Given the description of an element on the screen output the (x, y) to click on. 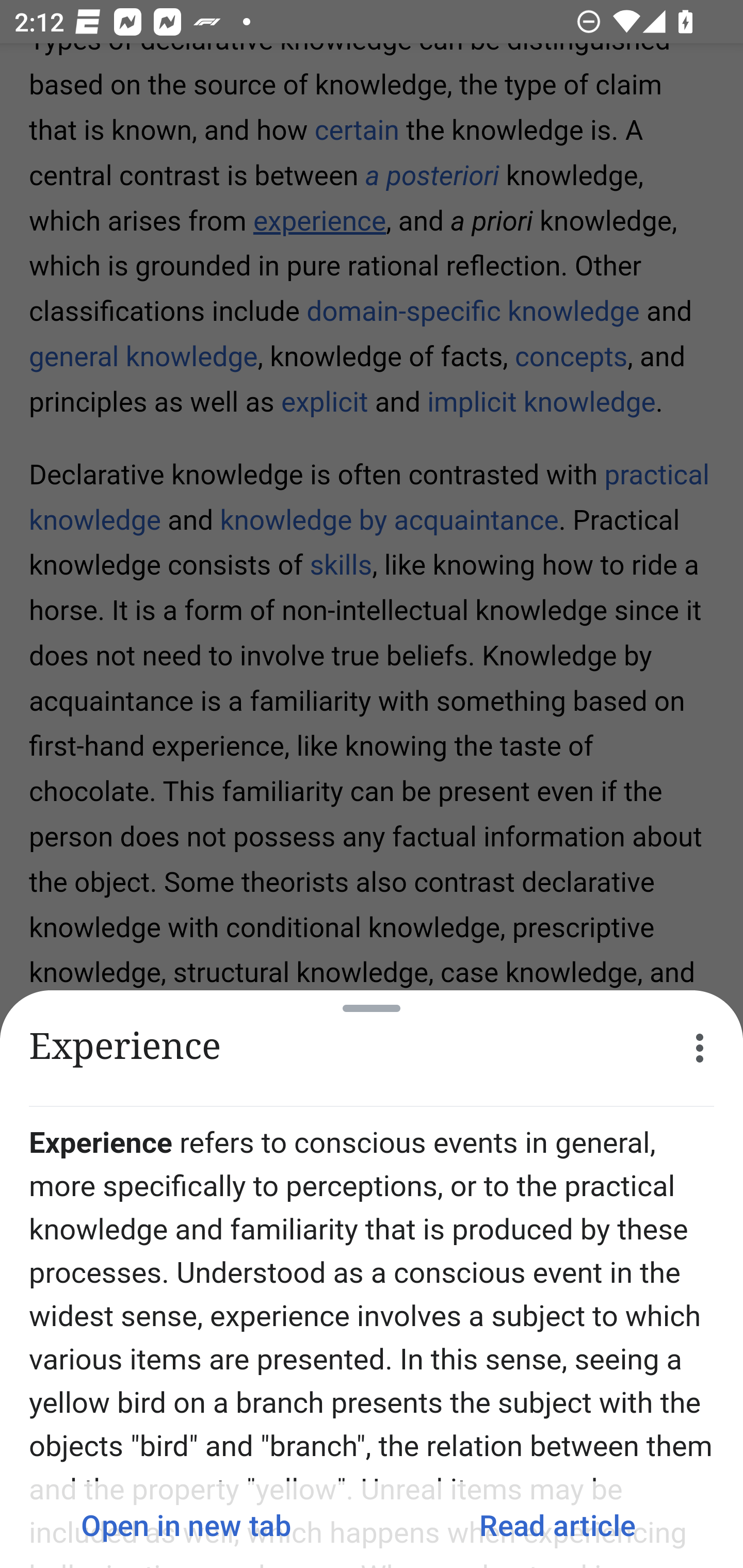
Experience More options (371, 1047)
More options (699, 1048)
Open in new tab (185, 1524)
Read article (557, 1524)
